Given the description of an element on the screen output the (x, y) to click on. 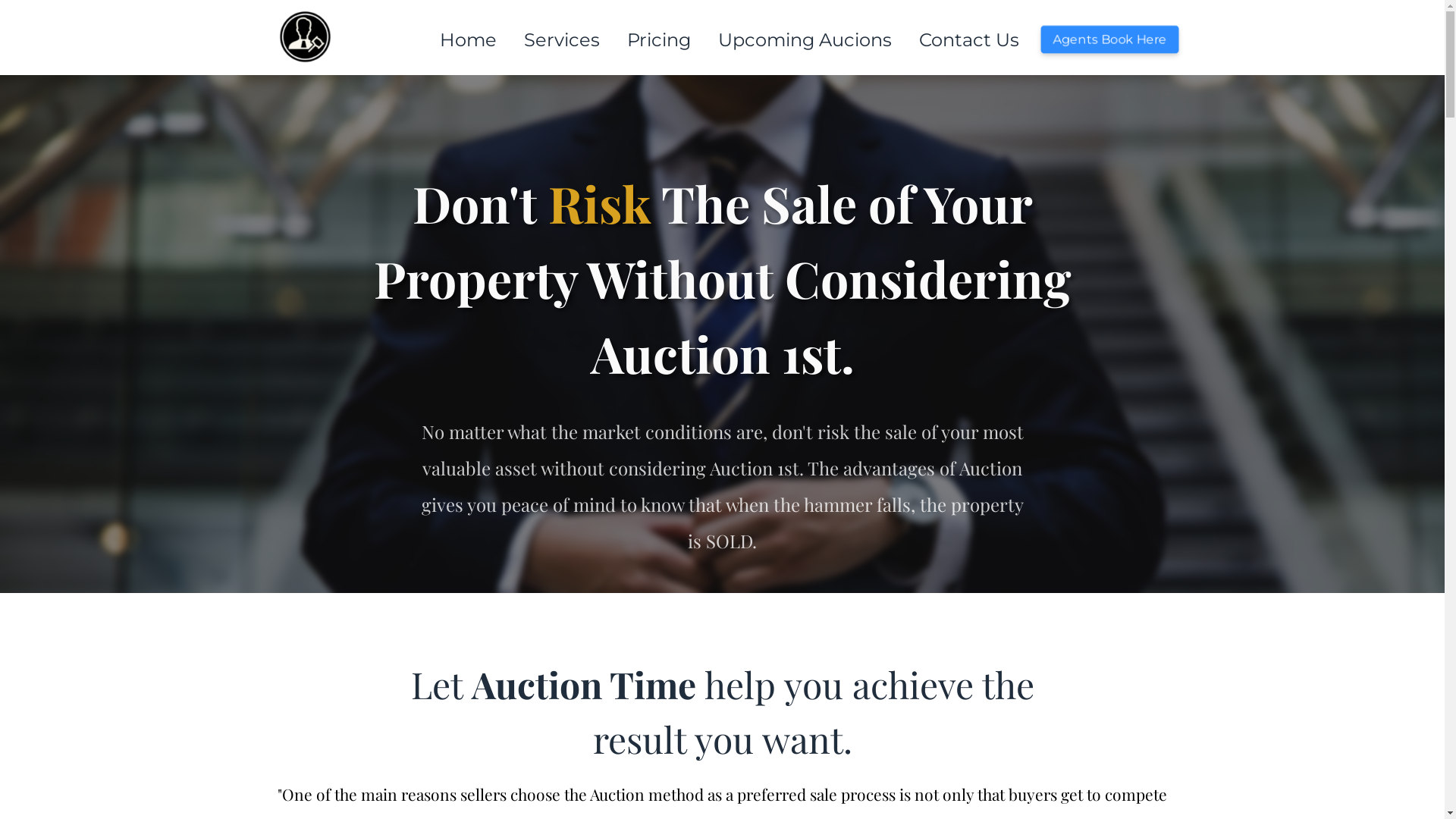
Services Element type: text (561, 39)
Pricing Element type: text (658, 39)
Home Element type: text (467, 39)
Contact Us Element type: text (969, 39)
Agents Book Here Element type: text (1108, 39)
Upcoming Aucions Element type: text (804, 39)
